Given the description of an element on the screen output the (x, y) to click on. 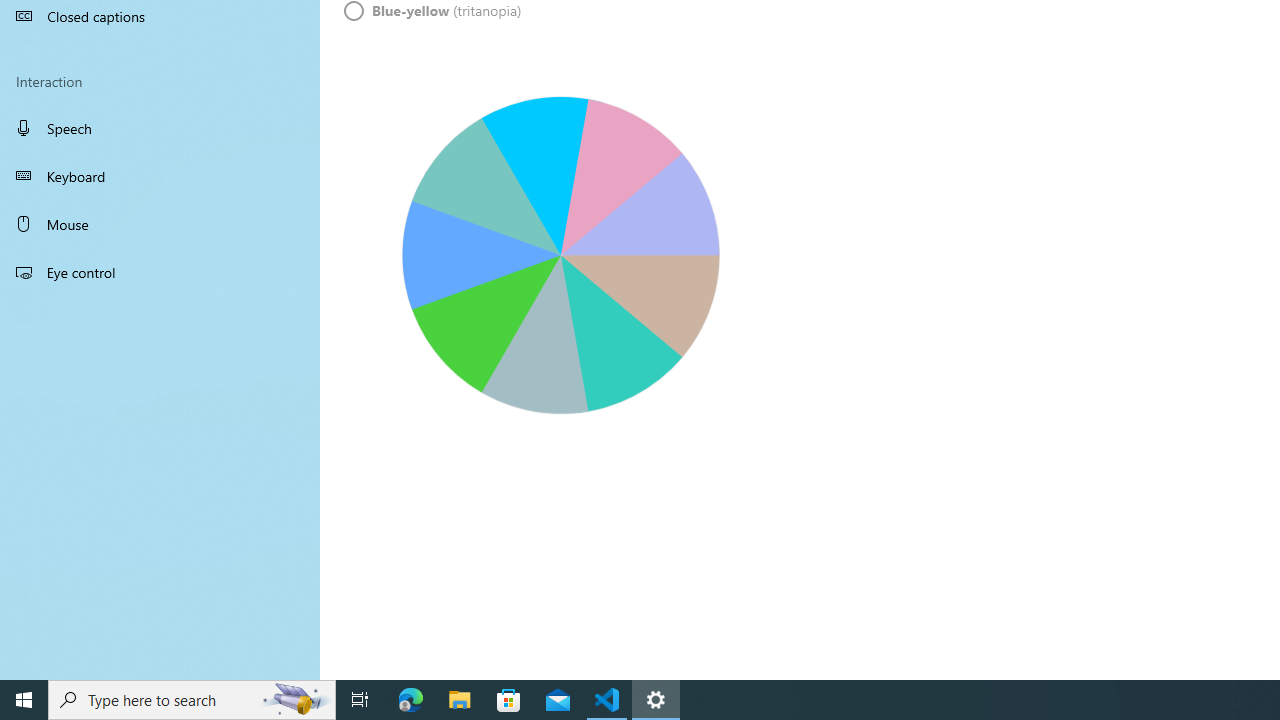
Keyboard (160, 175)
Microsoft Edge (411, 699)
Eye control (160, 271)
Search highlights icon opens search home window (295, 699)
Mouse (160, 223)
File Explorer (460, 699)
Type here to search (191, 699)
Settings - 1 running window (656, 699)
Visual Studio Code - 1 running window (607, 699)
Start (24, 699)
Task View (359, 699)
Speech (160, 127)
Microsoft Store (509, 699)
